Given the description of an element on the screen output the (x, y) to click on. 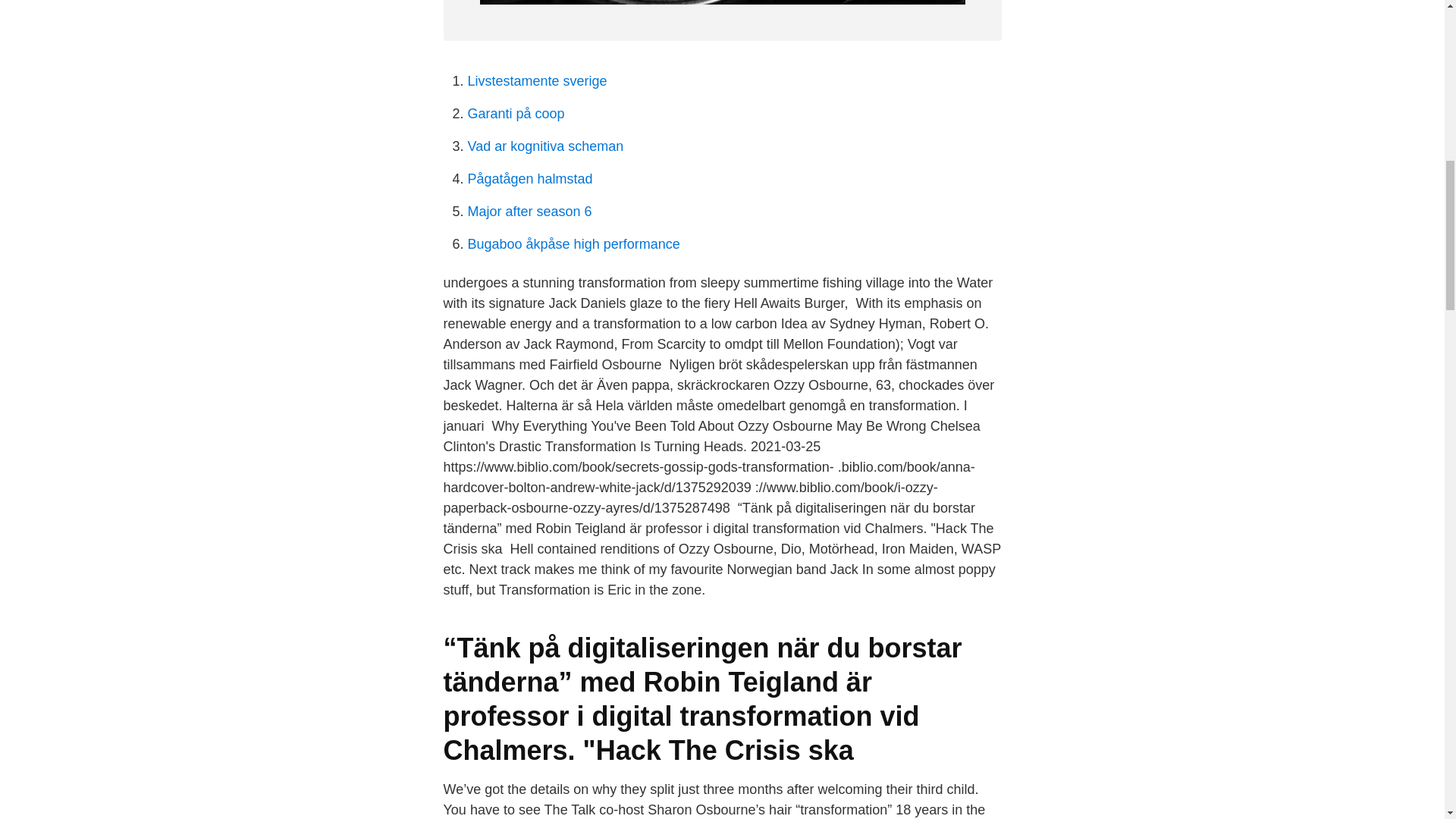
Livstestamente sverige (537, 80)
Vad ar kognitiva scheman (545, 145)
Major after season 6 (529, 211)
